Given the description of an element on the screen output the (x, y) to click on. 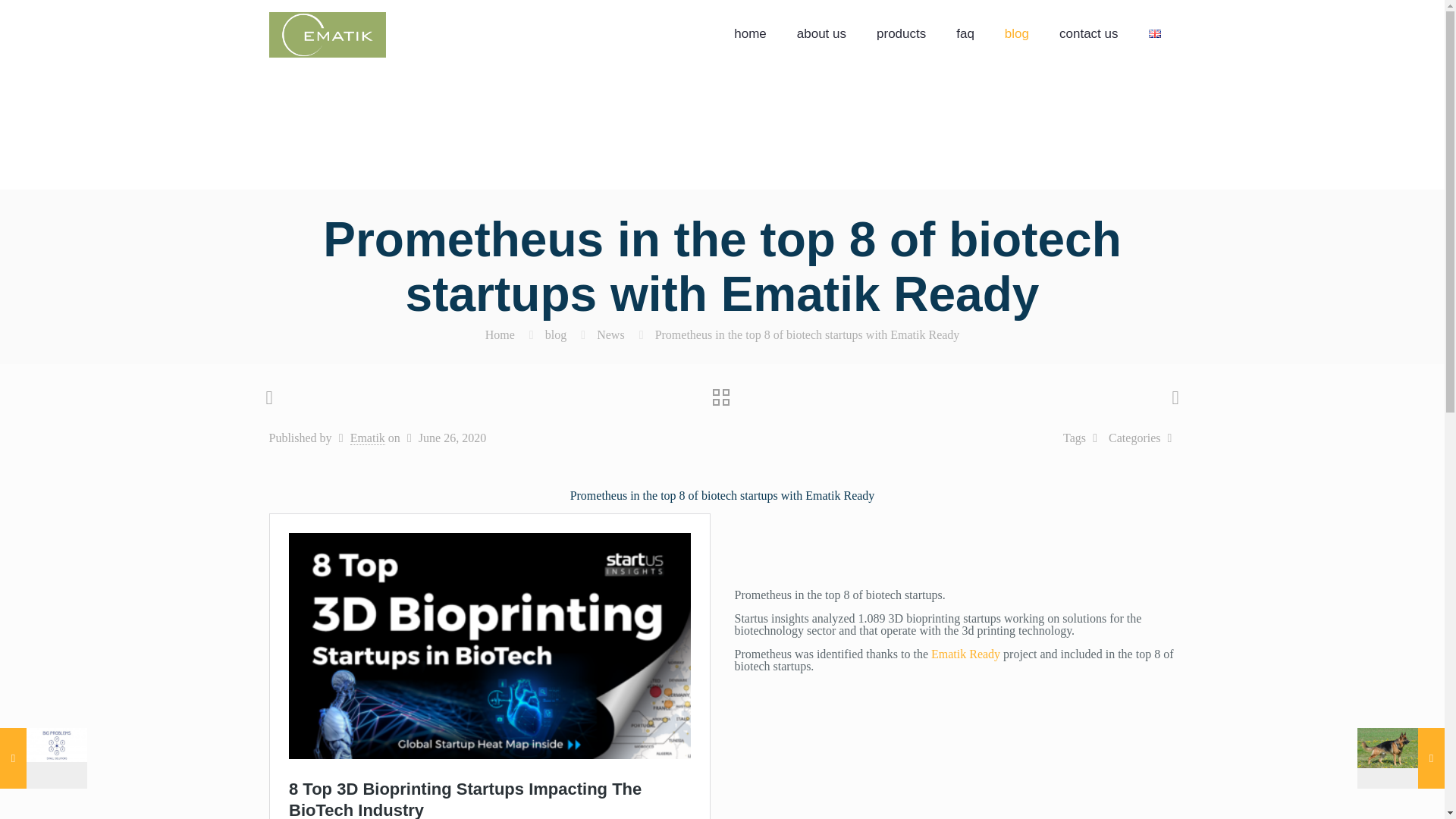
News (610, 334)
Ematik Ready (967, 653)
Prometheus (326, 33)
home (750, 33)
Home (499, 334)
contact us (1088, 33)
blog (555, 334)
products (900, 33)
Ematik (367, 438)
about us (821, 33)
